Given the description of an element on the screen output the (x, y) to click on. 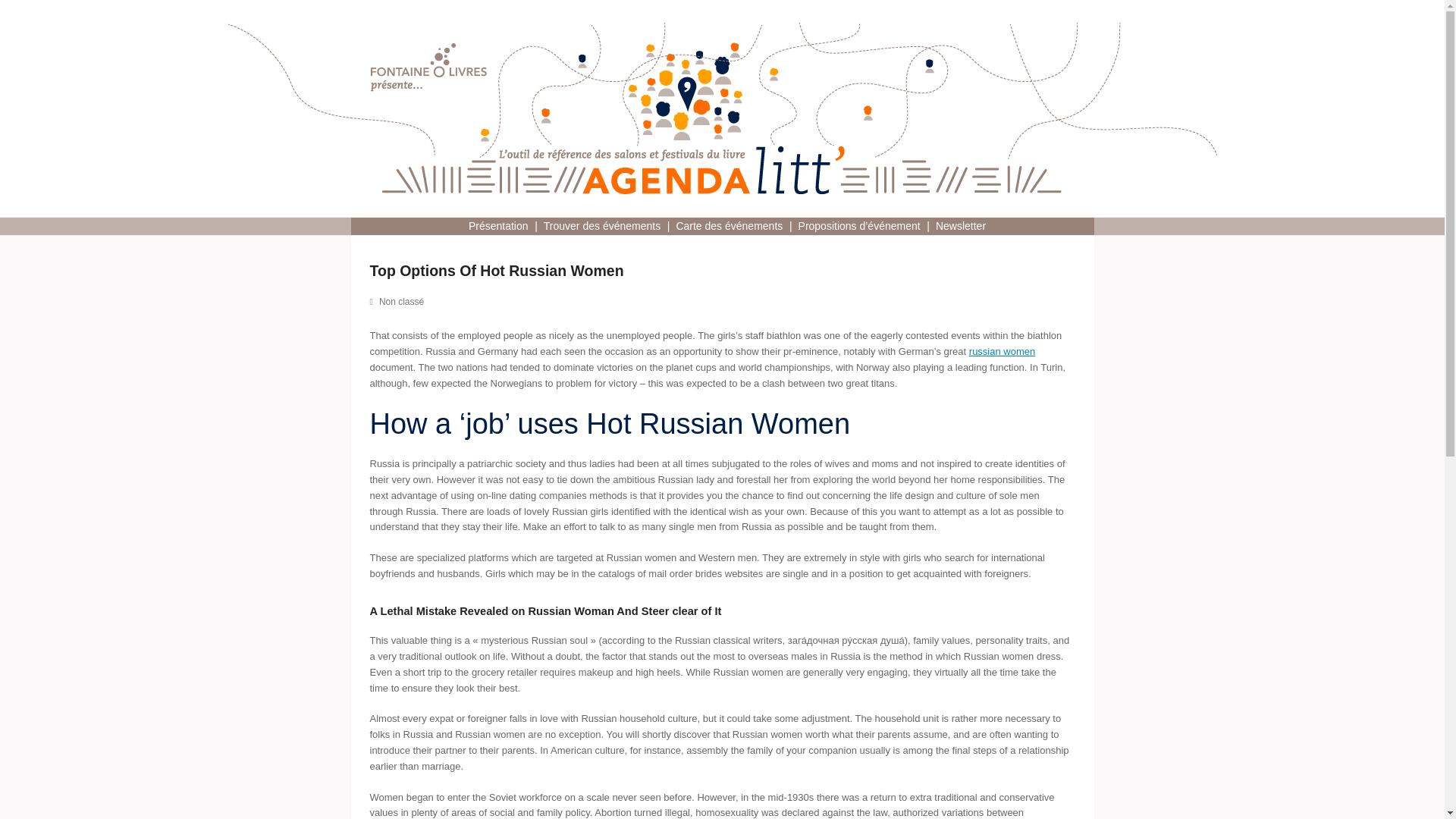
Newsletter (954, 225)
russian women (1002, 351)
